Given the description of an element on the screen output the (x, y) to click on. 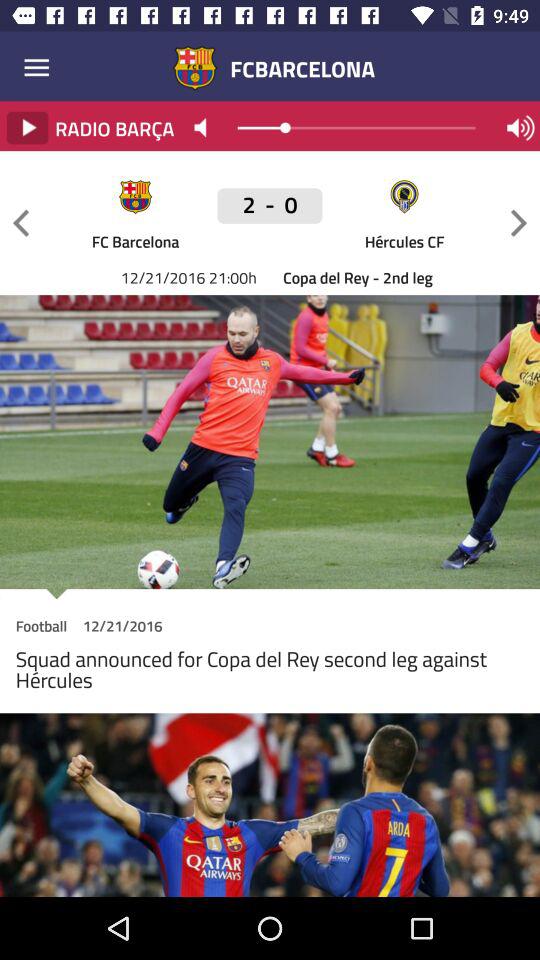
tap the squad announced for (270, 674)
